Given the description of an element on the screen output the (x, y) to click on. 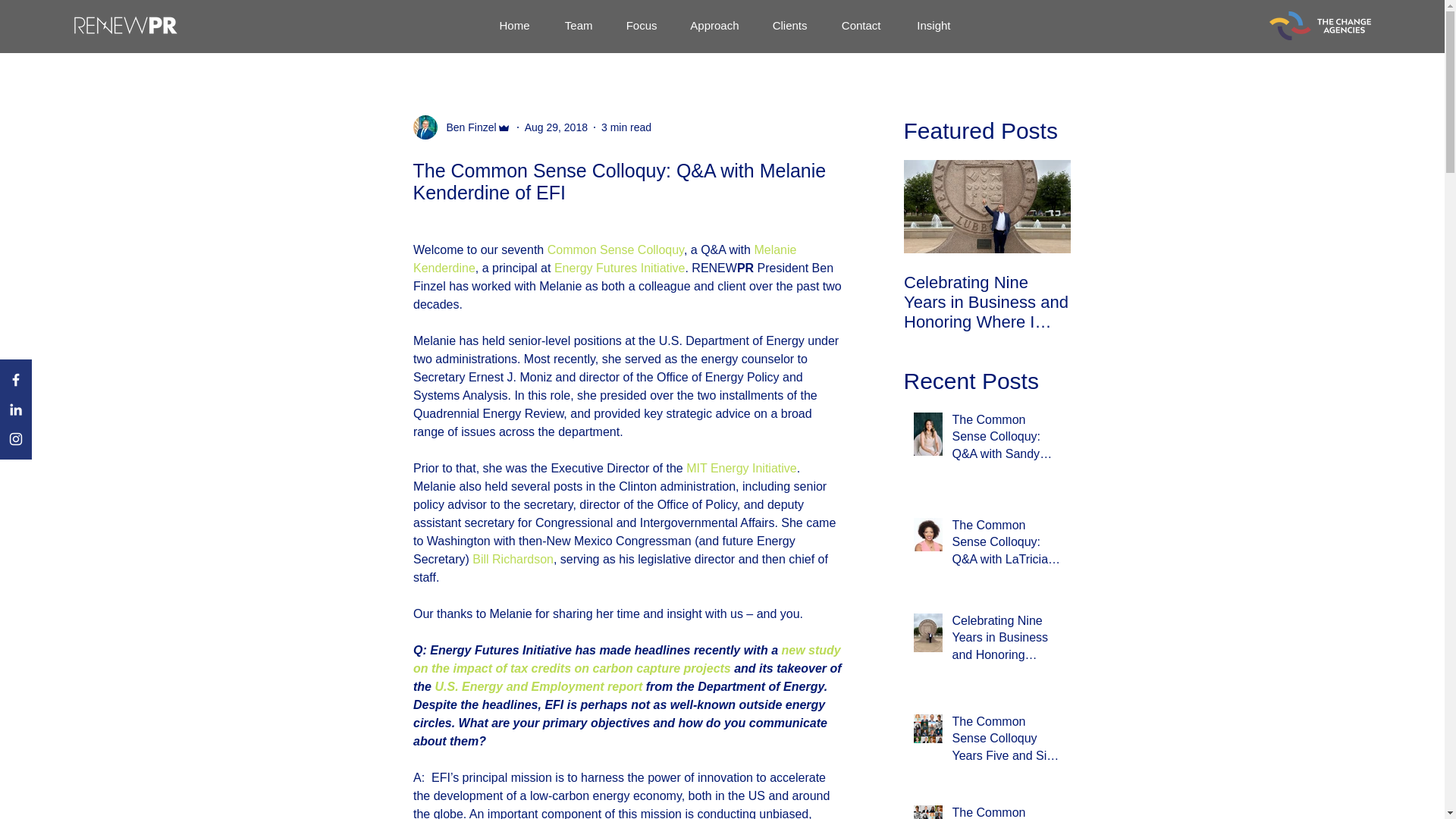
U.S. Energy and Employment report (537, 686)
Team (575, 25)
Common Sense Colloquy (614, 249)
Melanie Kenderdine (605, 258)
MIT Energy Initiative (740, 468)
Contact (858, 25)
3 min read (625, 127)
Ben Finzel (466, 127)
Aug 29, 2018 (556, 127)
